Given the description of an element on the screen output the (x, y) to click on. 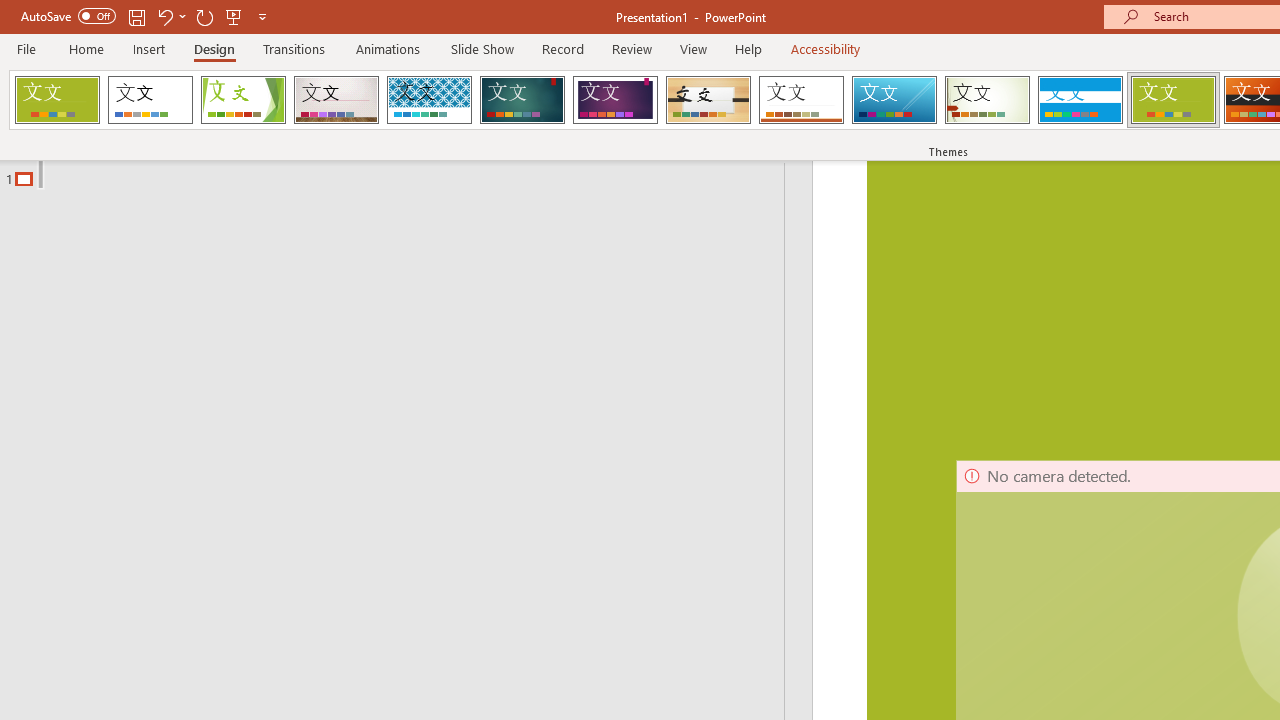
Gallery (336, 100)
Slice (893, 100)
Outline (401, 174)
